Given the description of an element on the screen output the (x, y) to click on. 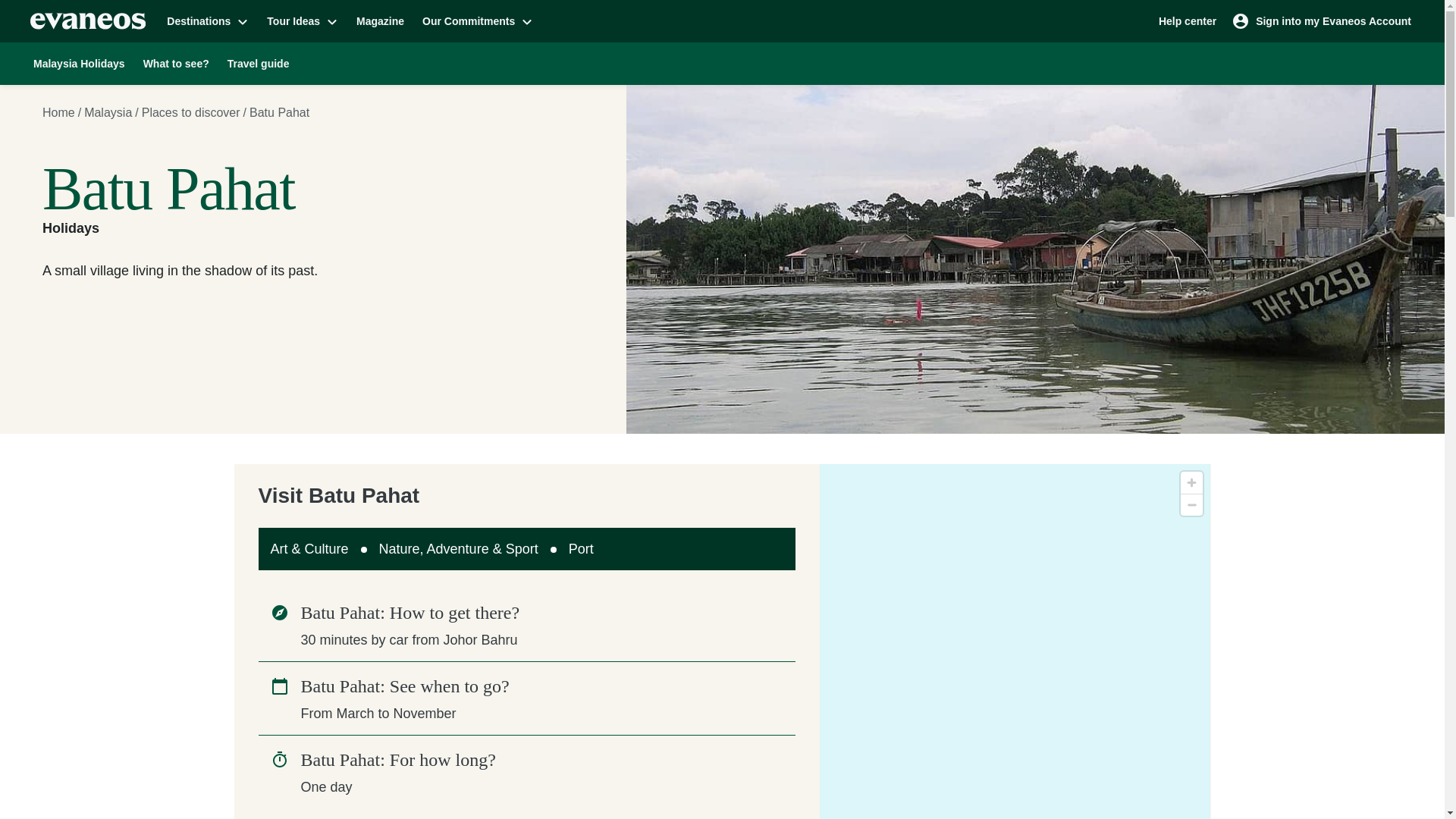
Destinations (207, 20)
Evaneos (87, 21)
Sign into my Evaneos Account (1323, 20)
Tour Ideas (302, 20)
Malaysia Holidays (78, 63)
Places to discover (190, 112)
Malaysia (108, 112)
Zoom out (1191, 504)
Travel guide (258, 63)
Our Commitments (477, 20)
Help center (1187, 20)
Evaneos (87, 21)
What to see? (175, 63)
Home (58, 112)
Magazine (380, 20)
